Given the description of an element on the screen output the (x, y) to click on. 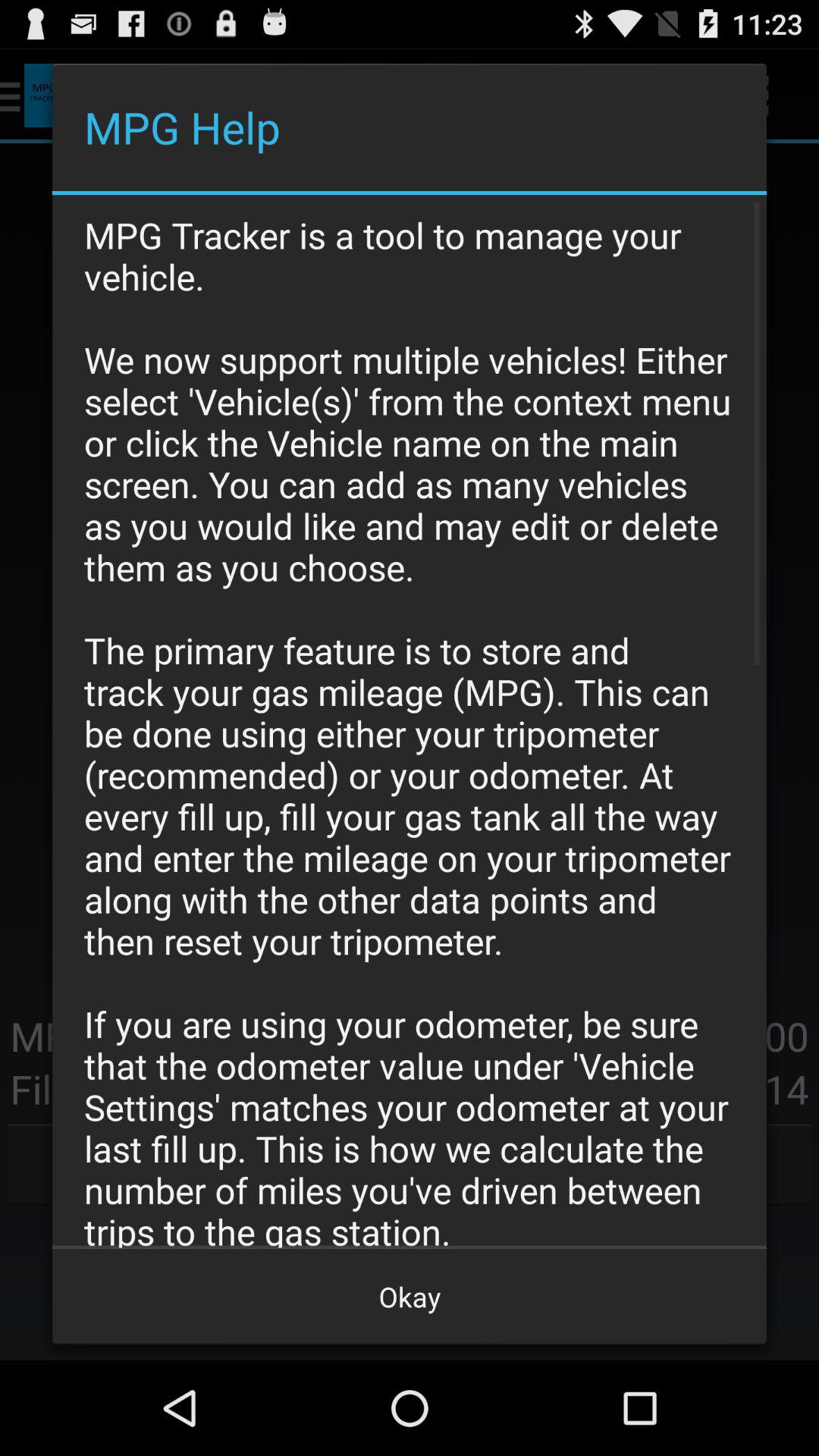
launch the item above okay button (409, 721)
